Given the description of an element on the screen output the (x, y) to click on. 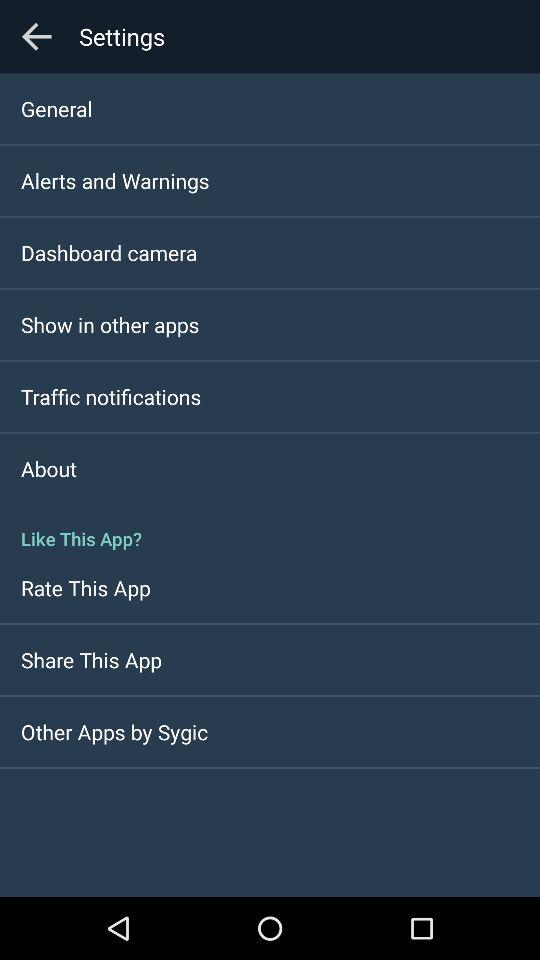
choose the traffic notifications item (111, 396)
